Given the description of an element on the screen output the (x, y) to click on. 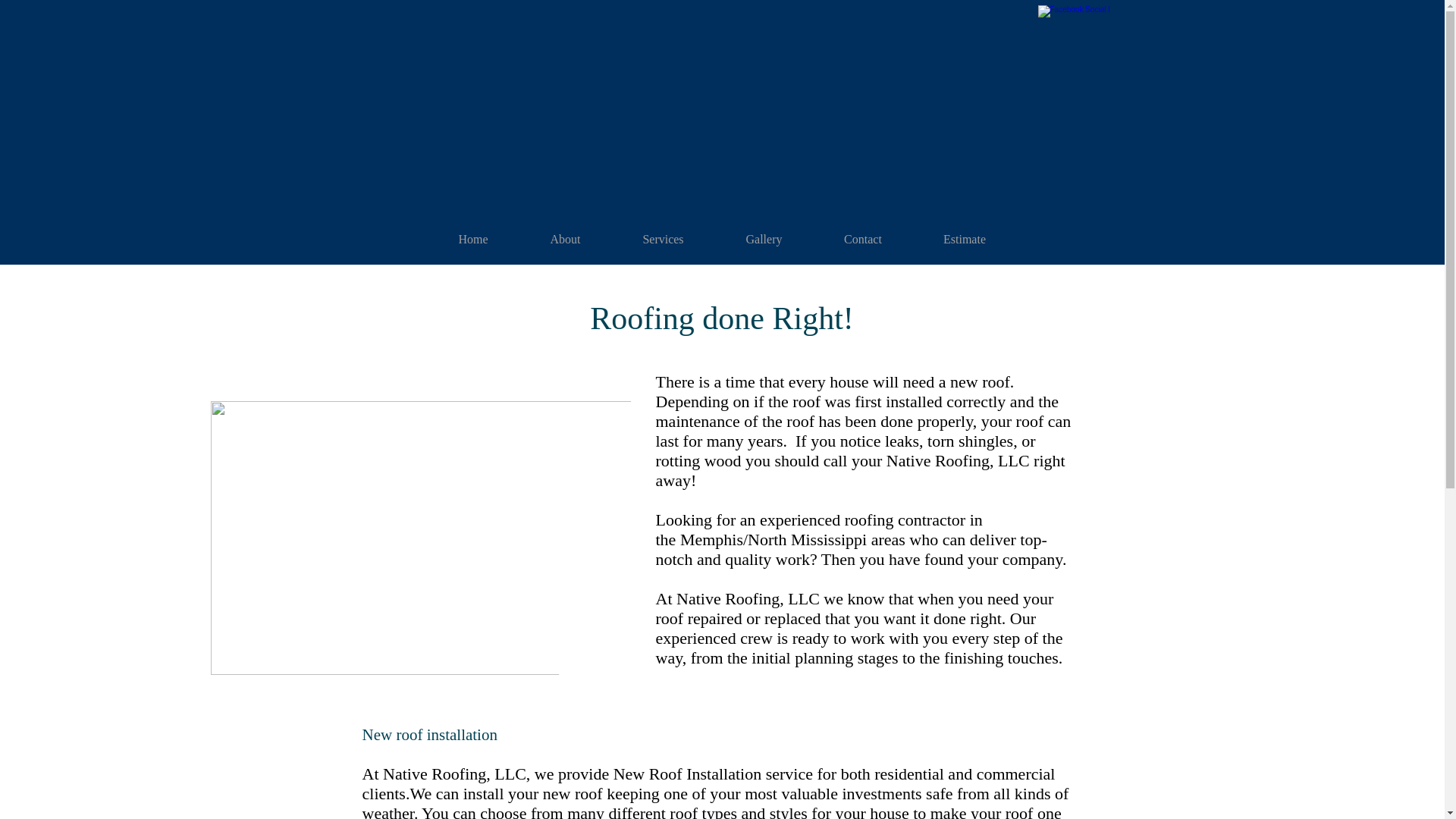
Services (662, 239)
Home (473, 239)
roofer1.jpg (453, 537)
Gallery (763, 239)
About (564, 239)
Estimate (964, 239)
Contact (862, 239)
